Given the description of an element on the screen output the (x, y) to click on. 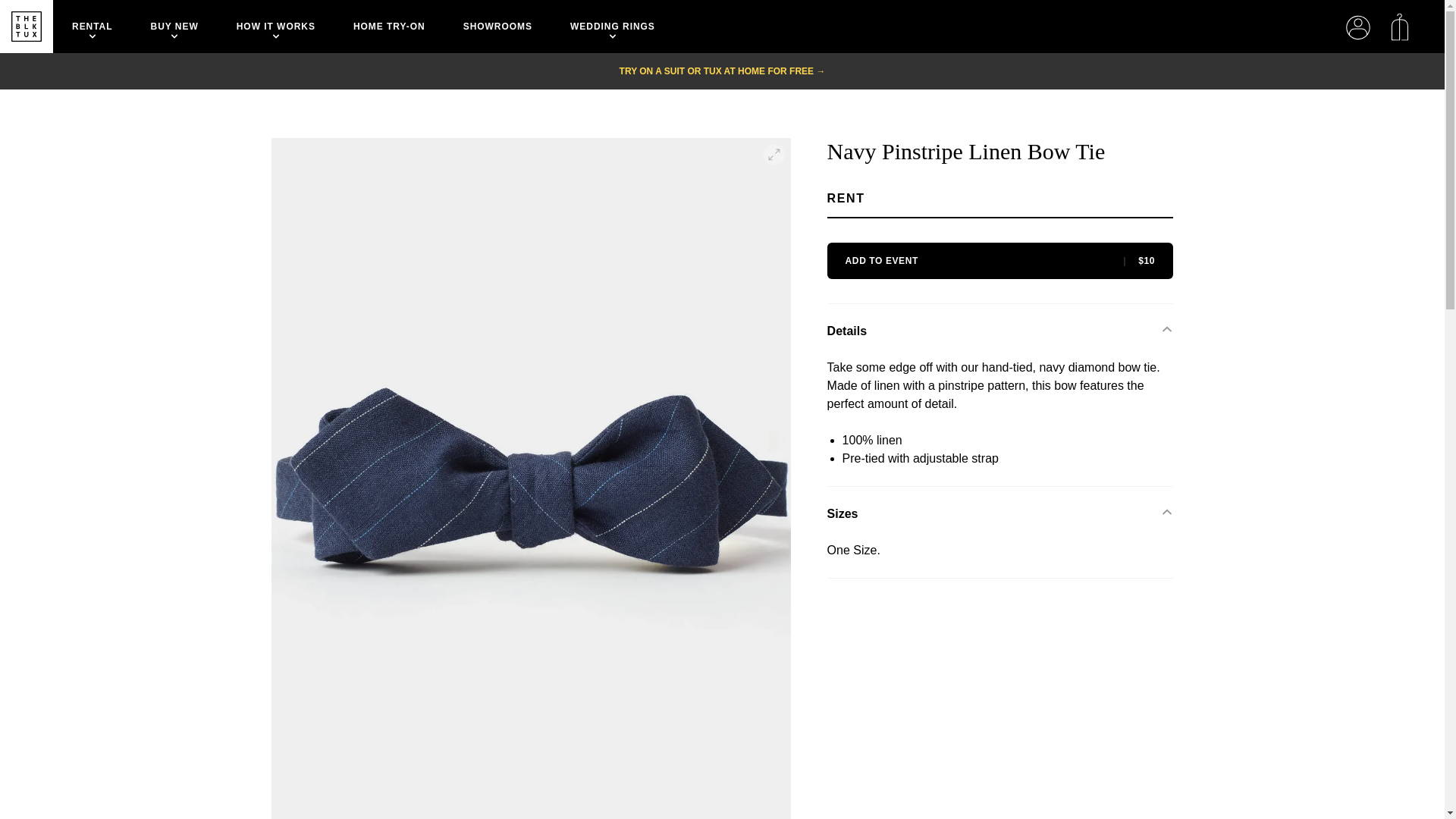
RENTAL (92, 26)
Go home (26, 26)
SHOWROOMS (497, 26)
BUY NEW (174, 26)
HOW IT WORKS (275, 26)
RENT (913, 203)
HOME TRY-ON (389, 26)
WEDDING RINGS (612, 26)
